Given the description of an element on the screen output the (x, y) to click on. 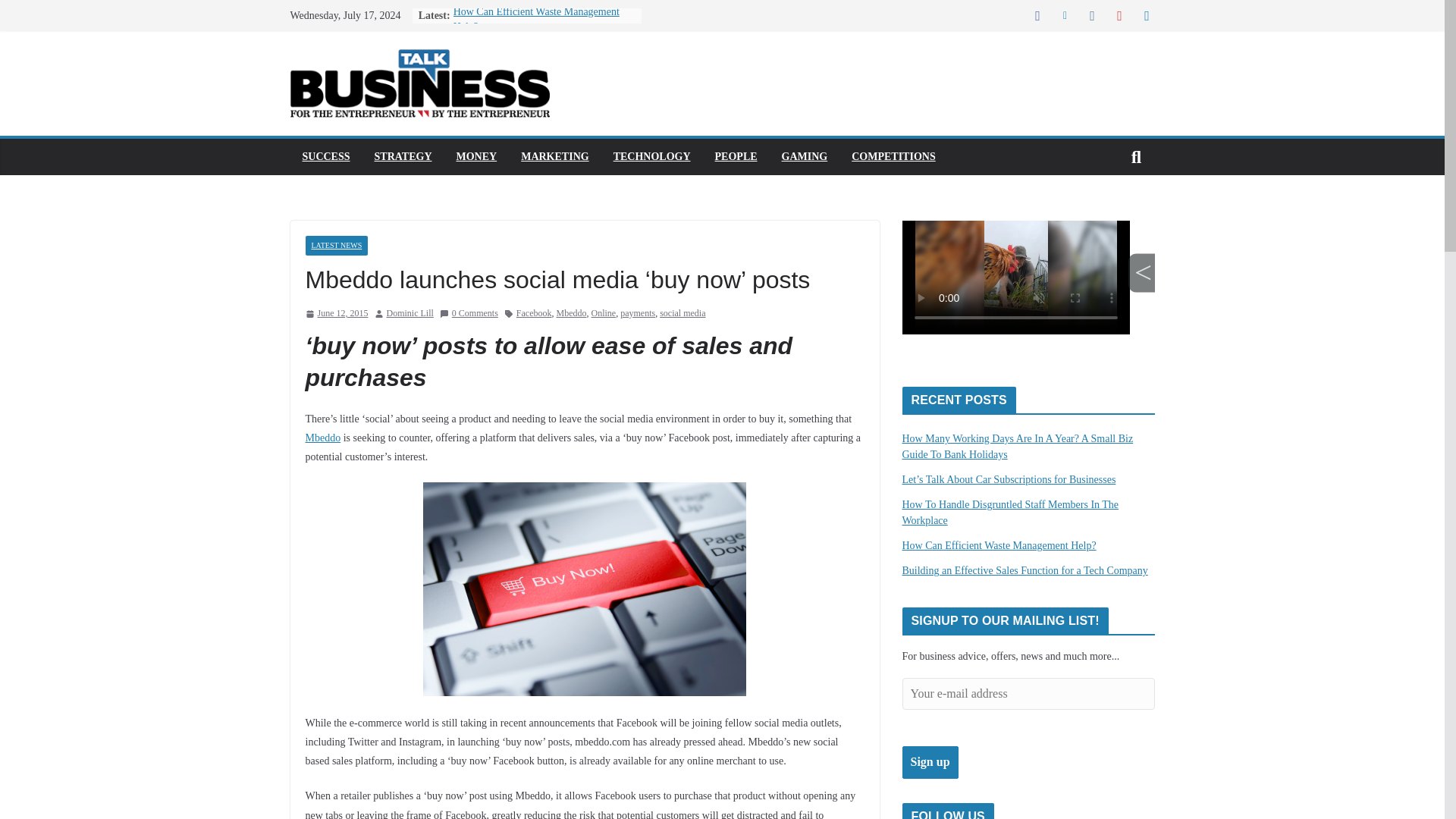
payments (637, 313)
June 12, 2015 (336, 313)
social media (681, 313)
3rd party ad content (1028, 291)
Sign up (930, 762)
STRATEGY (403, 156)
MARKETING (554, 156)
PEOPLE (735, 156)
How To Handle Disgruntled Staff Members In The Workplace (1010, 512)
Facebook (533, 313)
Mbeddo (571, 313)
Mbeddo (322, 437)
TECHNOLOGY (651, 156)
0 Comments (468, 313)
